Given the description of an element on the screen output the (x, y) to click on. 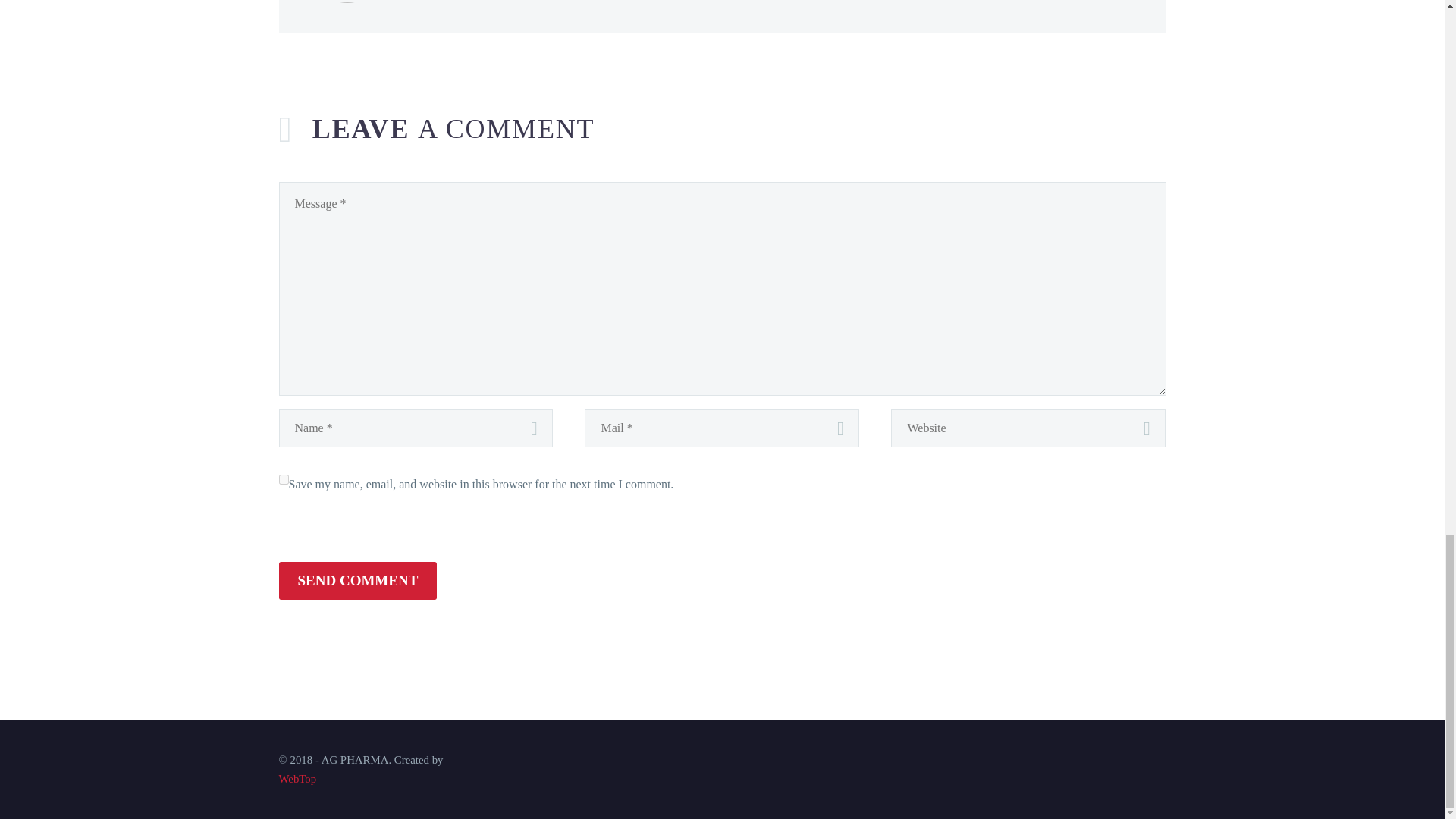
SEND COMMENT (358, 580)
yes (283, 479)
WebTop (298, 778)
